Given the description of an element on the screen output the (x, y) to click on. 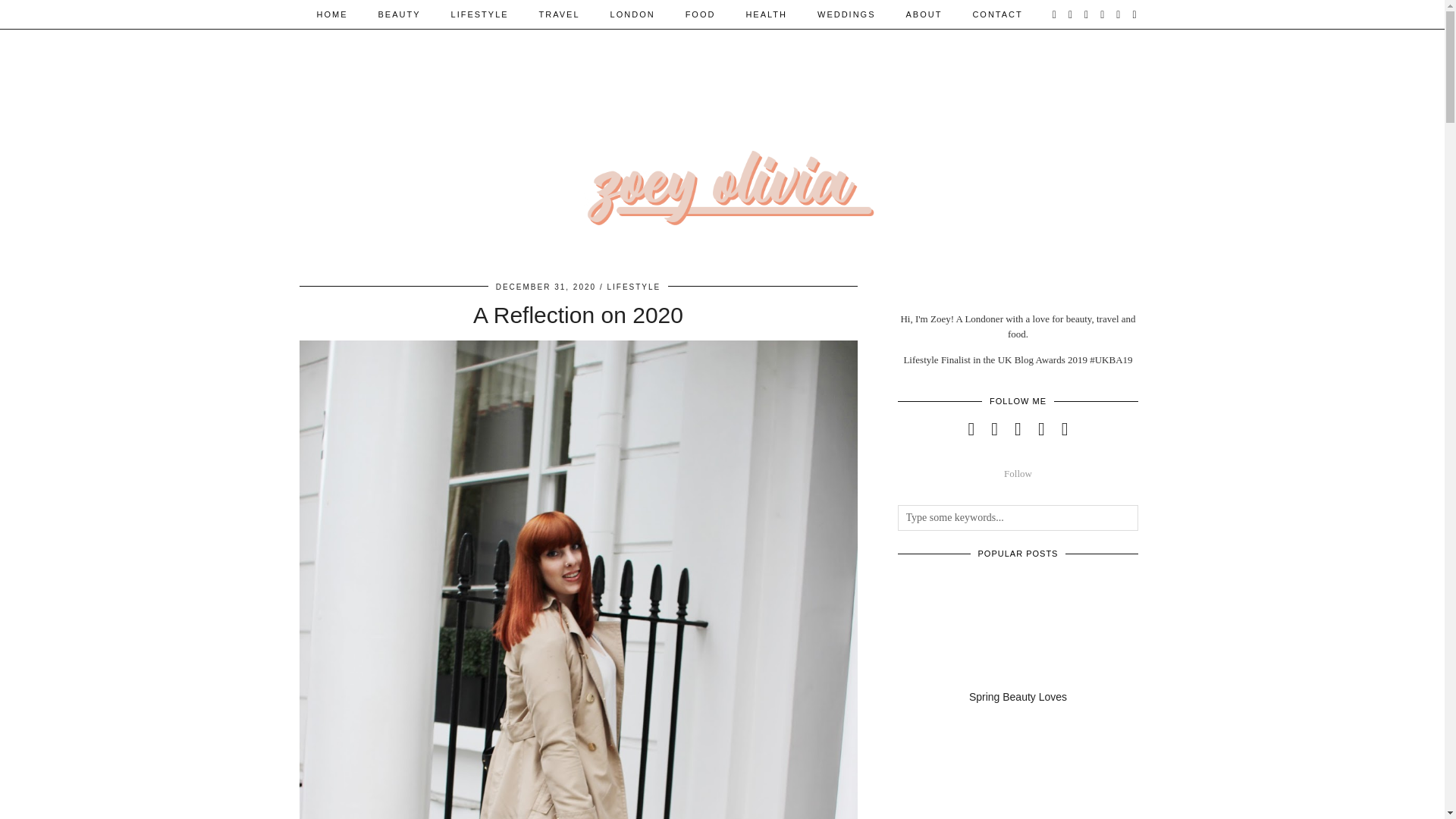
FOOD (699, 14)
LONDON (632, 14)
ABOUT (924, 14)
BEAUTY (398, 14)
CONTACT (996, 14)
HEALTH (766, 14)
WEDDINGS (846, 14)
HOME (331, 14)
LIFESTYLE (479, 14)
TRAVEL (559, 14)
